Given the description of an element on the screen output the (x, y) to click on. 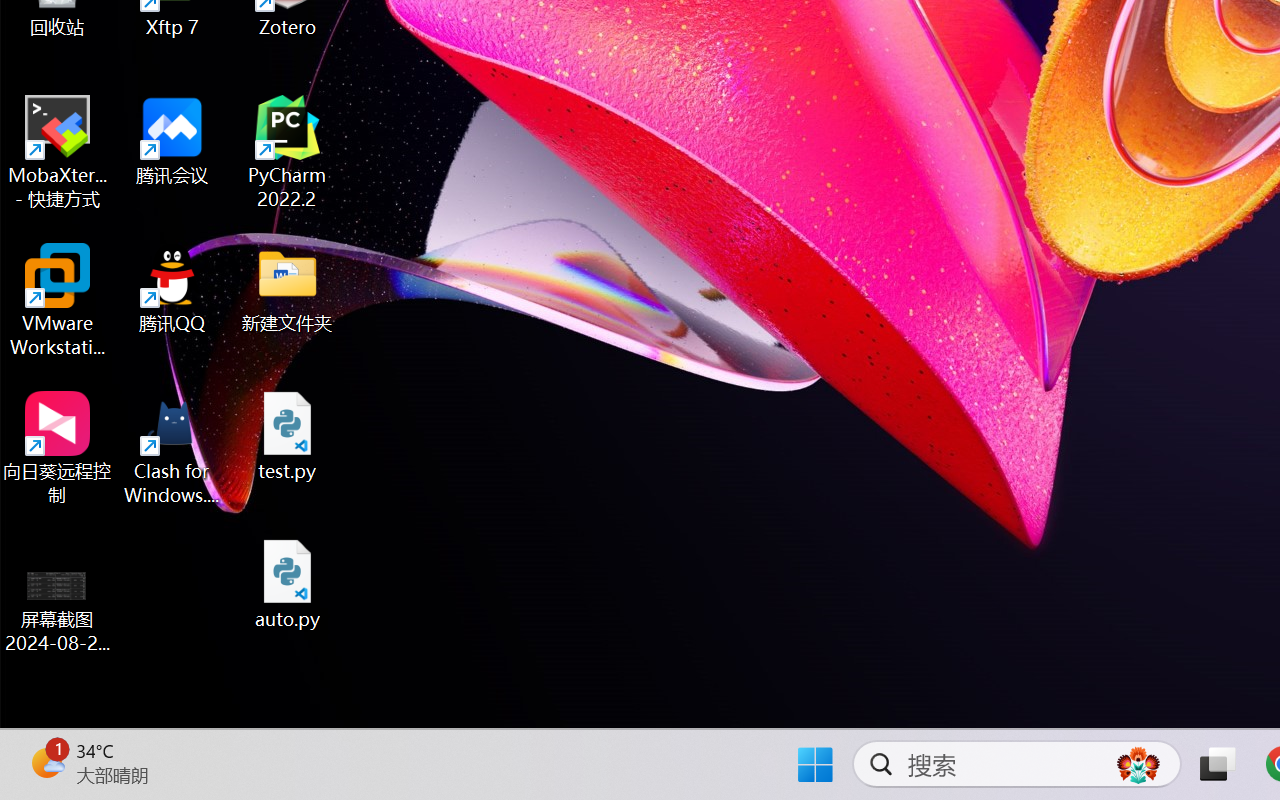
auto.py (287, 584)
test.py (287, 436)
VMware Workstation Pro (57, 300)
PyCharm 2022.2 (287, 152)
